Given the description of an element on the screen output the (x, y) to click on. 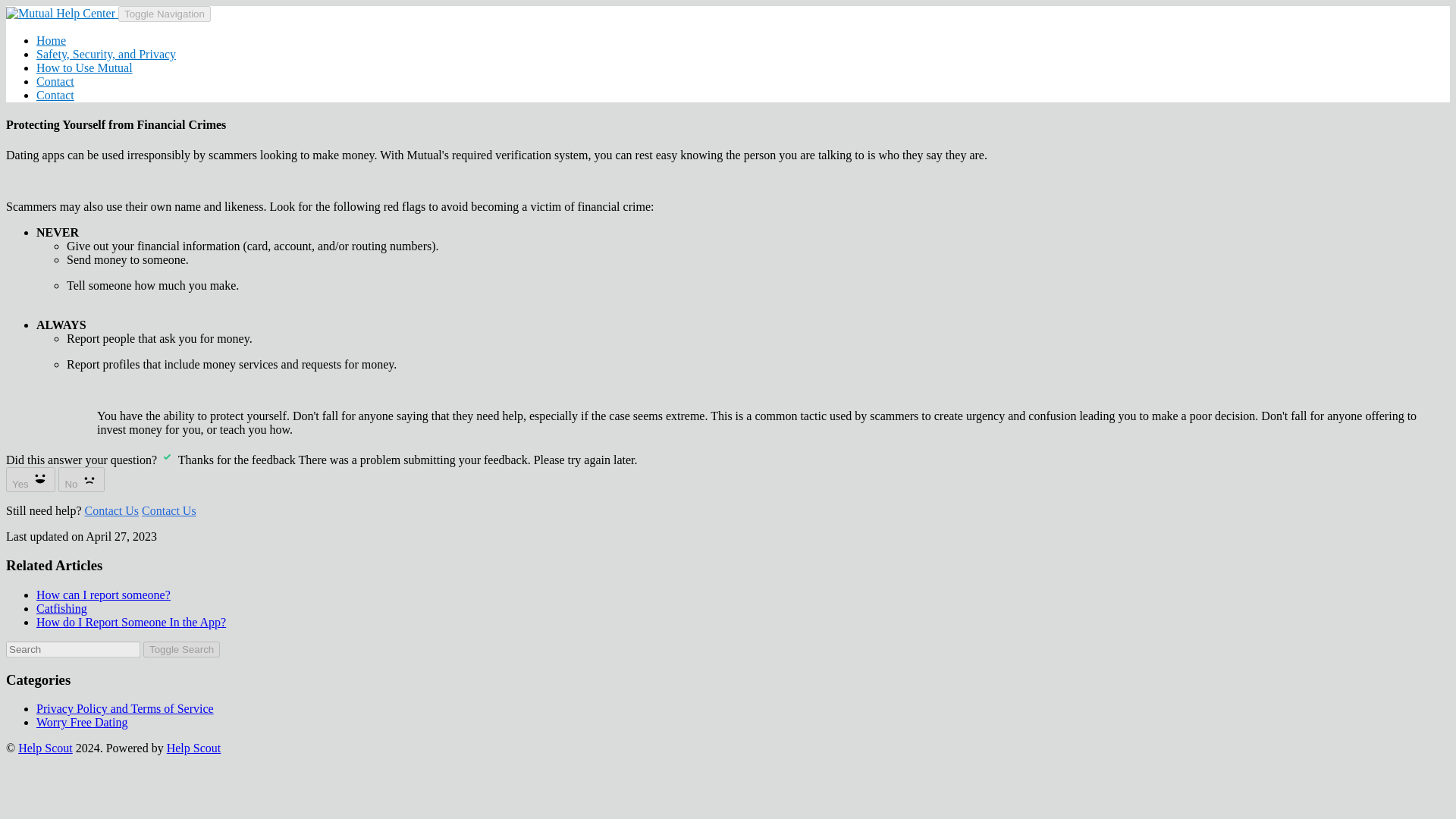
search-query (72, 649)
Worry Free Dating (82, 721)
Privacy Policy and Terms of Service (125, 707)
No (81, 479)
Contact (55, 94)
Catfishing (61, 608)
How can I report someone? (103, 594)
Toggle Navigation (164, 13)
How to Use Mutual (84, 67)
Toggle Search (180, 649)
